Given the description of an element on the screen output the (x, y) to click on. 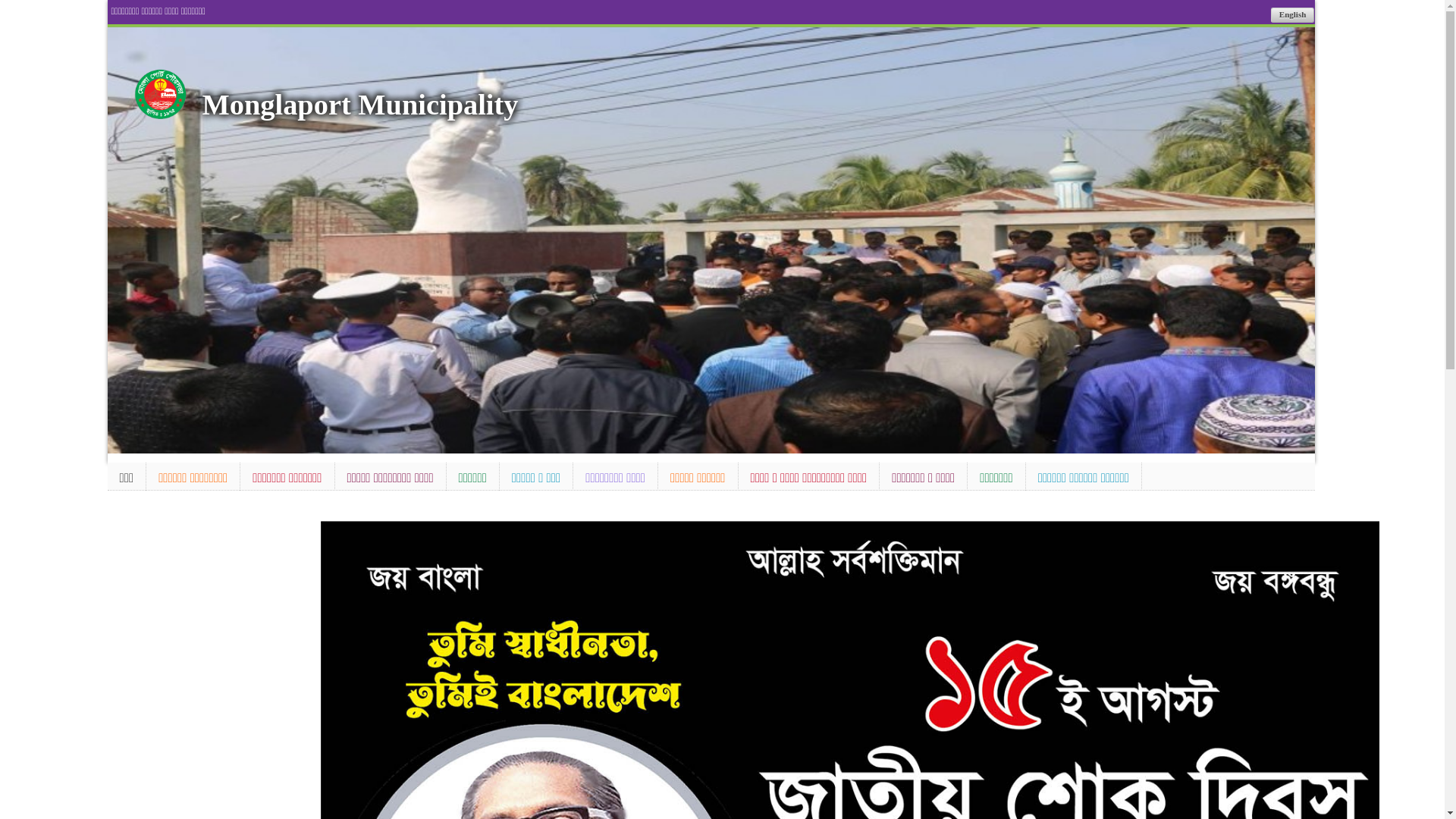
Home Element type: hover (160, 93)
Monglaport Municipality Element type: text (360, 104)
English Element type: text (1292, 14)
